Given the description of an element on the screen output the (x, y) to click on. 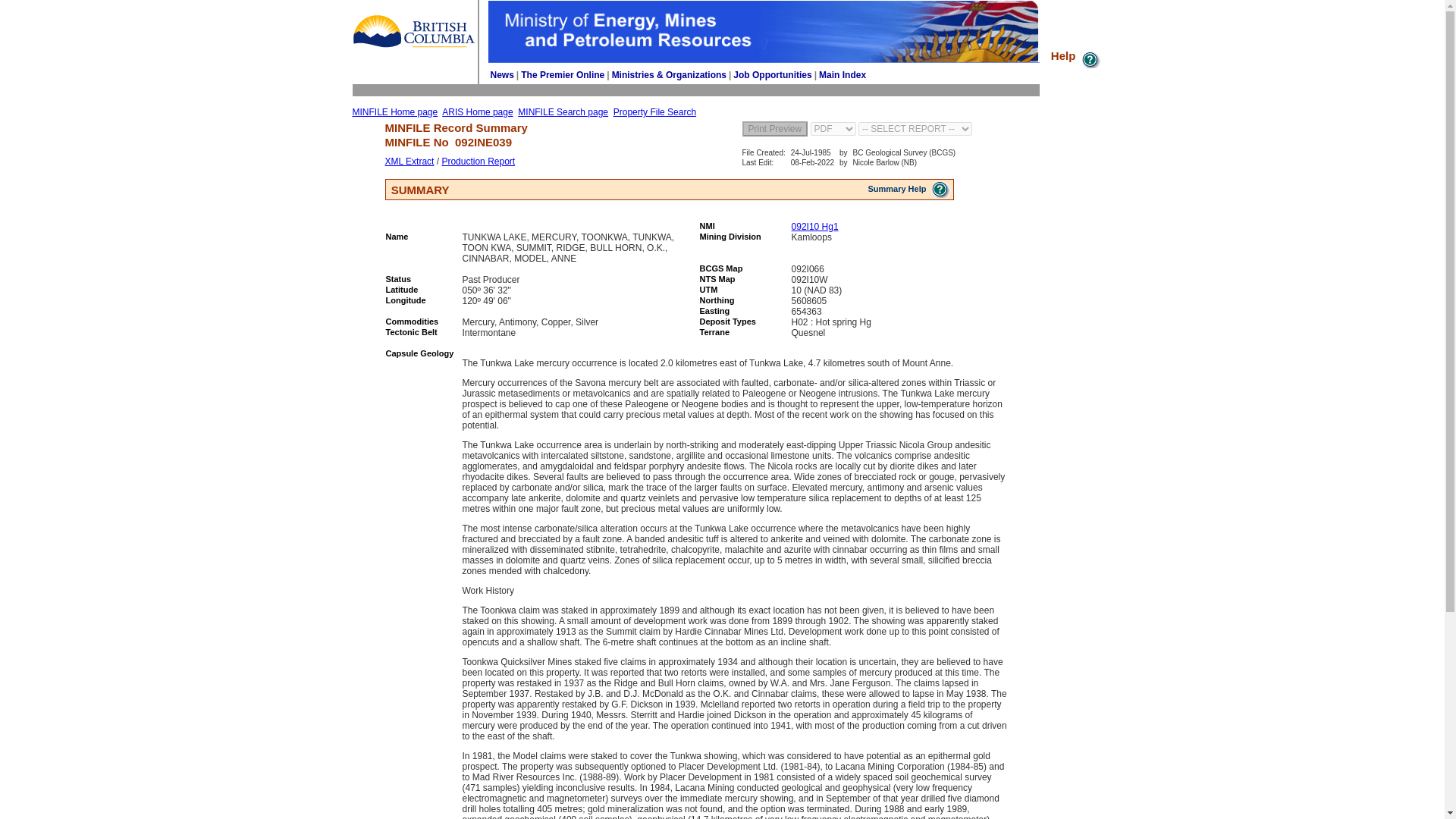
MINFILE Search page (563, 112)
MINFILE Home page (395, 112)
Production Report (478, 161)
ARIS Home page (477, 112)
Property File Search (653, 112)
The Premier Online (562, 74)
XML Extract (409, 161)
News (501, 74)
